Given the description of an element on the screen output the (x, y) to click on. 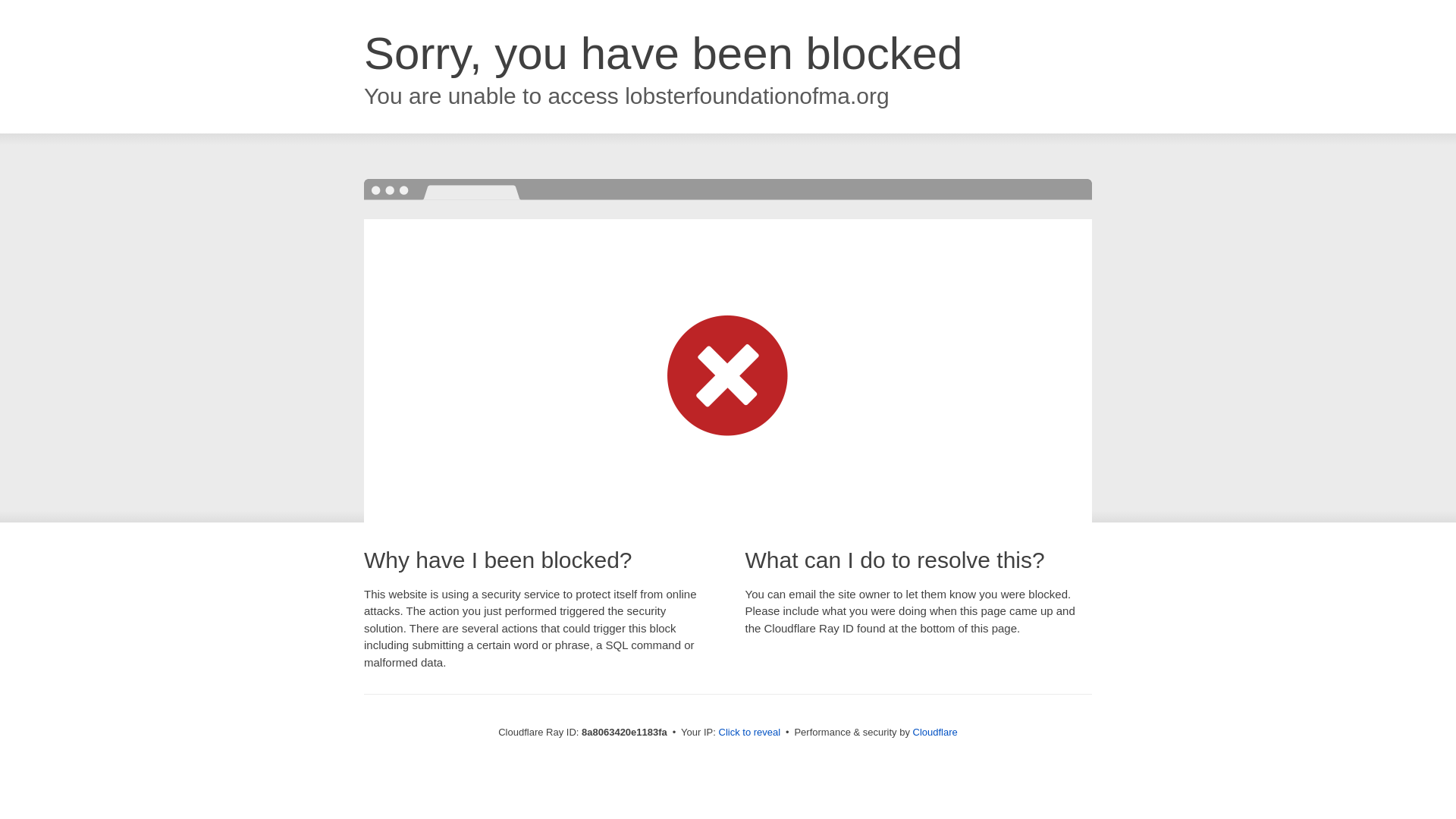
Click to reveal (749, 732)
Cloudflare (935, 731)
